Given the description of an element on the screen output the (x, y) to click on. 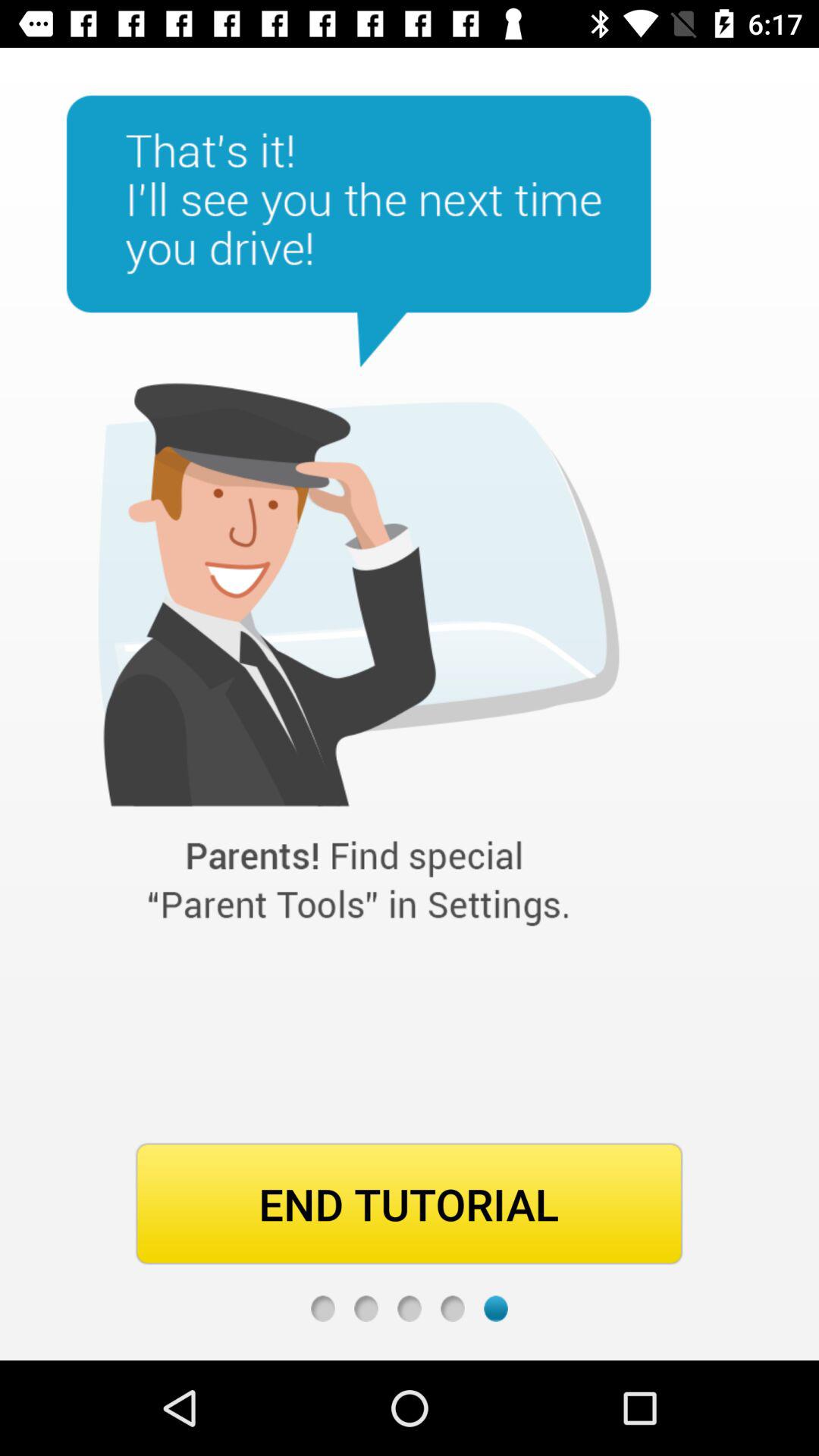
last page (495, 1308)
